Given the description of an element on the screen output the (x, y) to click on. 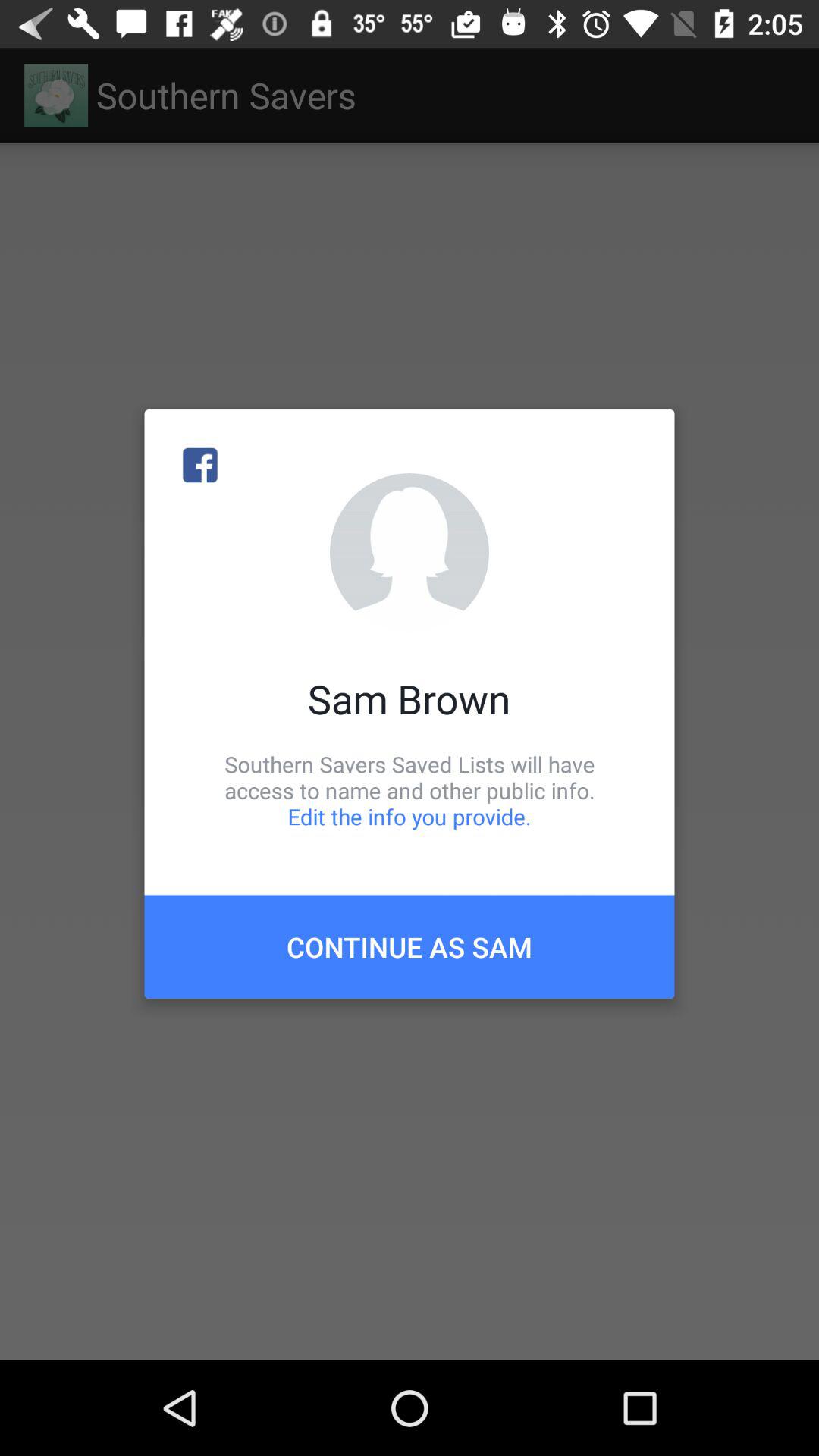
open the item below the southern savers saved icon (409, 946)
